Given the description of an element on the screen output the (x, y) to click on. 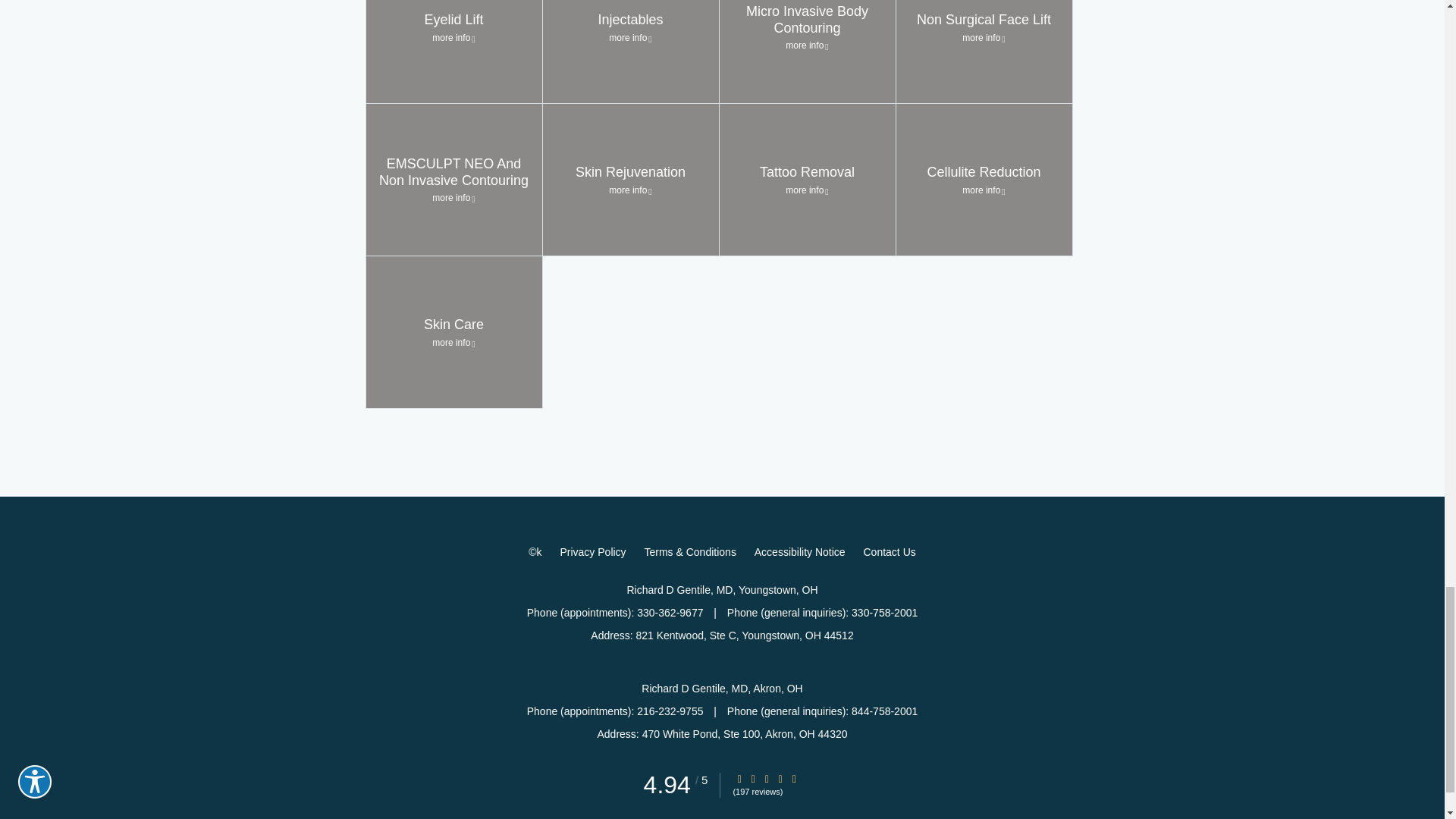
Star Rating (794, 778)
Star Rating (780, 778)
Star Rating (766, 778)
Star Rating (738, 778)
Star Rating (753, 778)
